Given the description of an element on the screen output the (x, y) to click on. 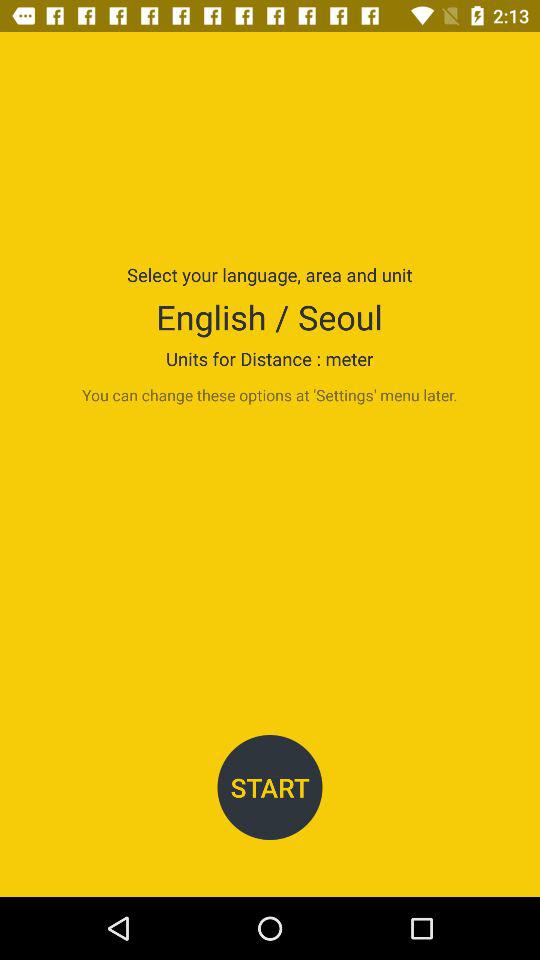
scroll until start icon (269, 787)
